Given the description of an element on the screen output the (x, y) to click on. 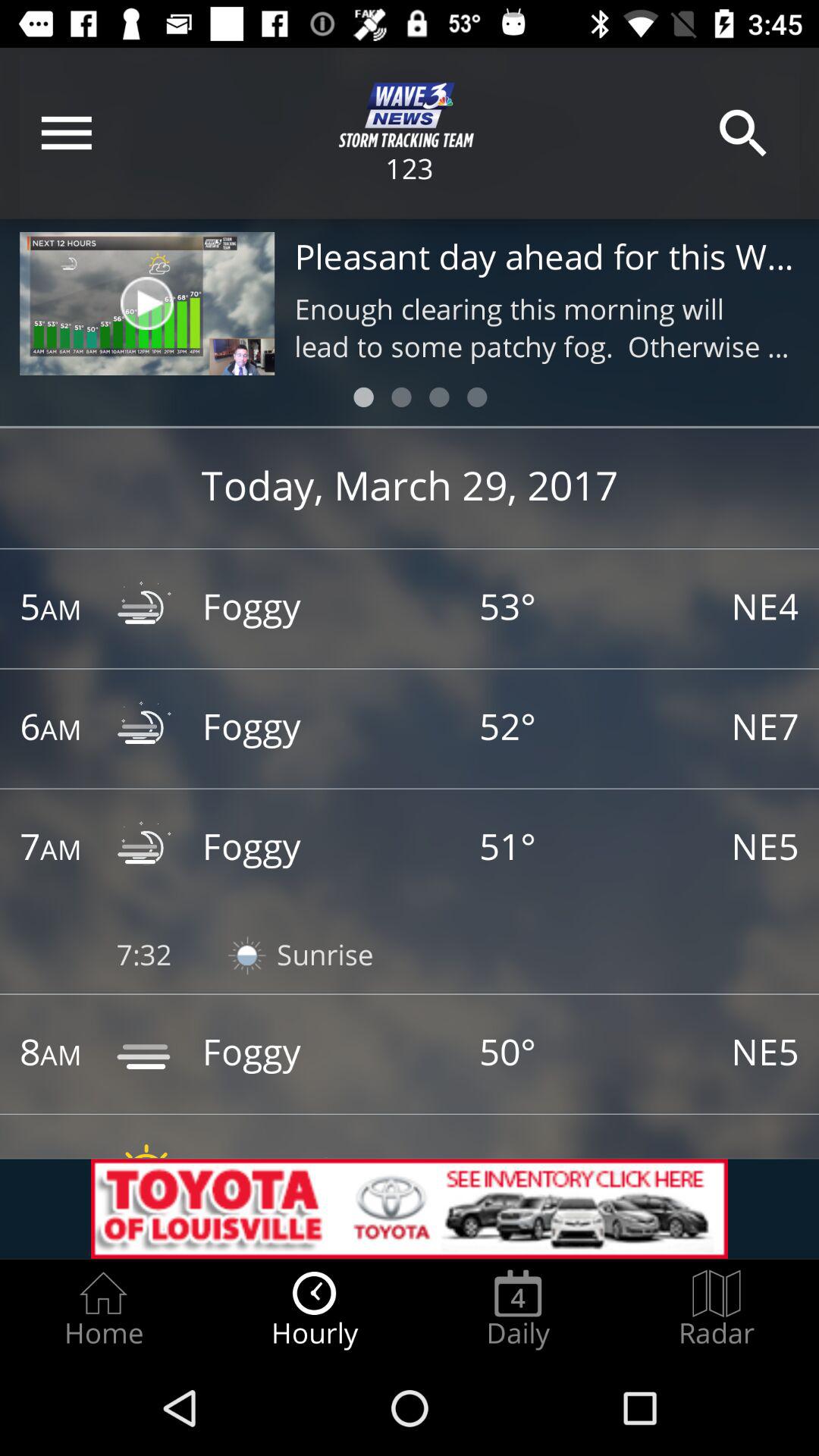
open daily icon (518, 1309)
